Given the description of an element on the screen output the (x, y) to click on. 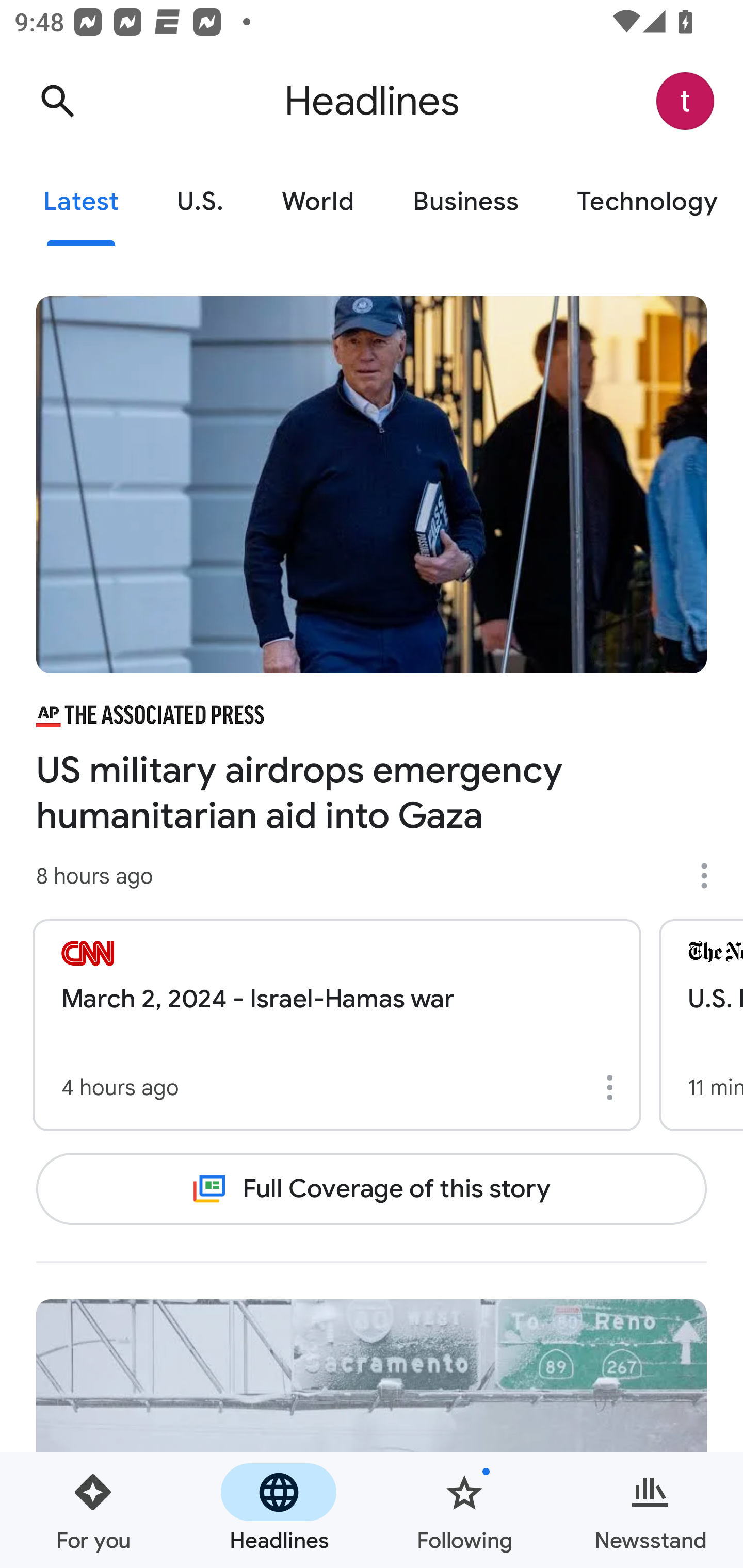
Search (57, 100)
U.S. (199, 202)
World (317, 202)
Business (465, 202)
Technology (645, 202)
More options (711, 875)
More options (613, 1086)
Full Coverage of this story (371, 1188)
For you (92, 1509)
Headlines (278, 1509)
Following (464, 1509)
Newsstand (650, 1509)
